Given the description of an element on the screen output the (x, y) to click on. 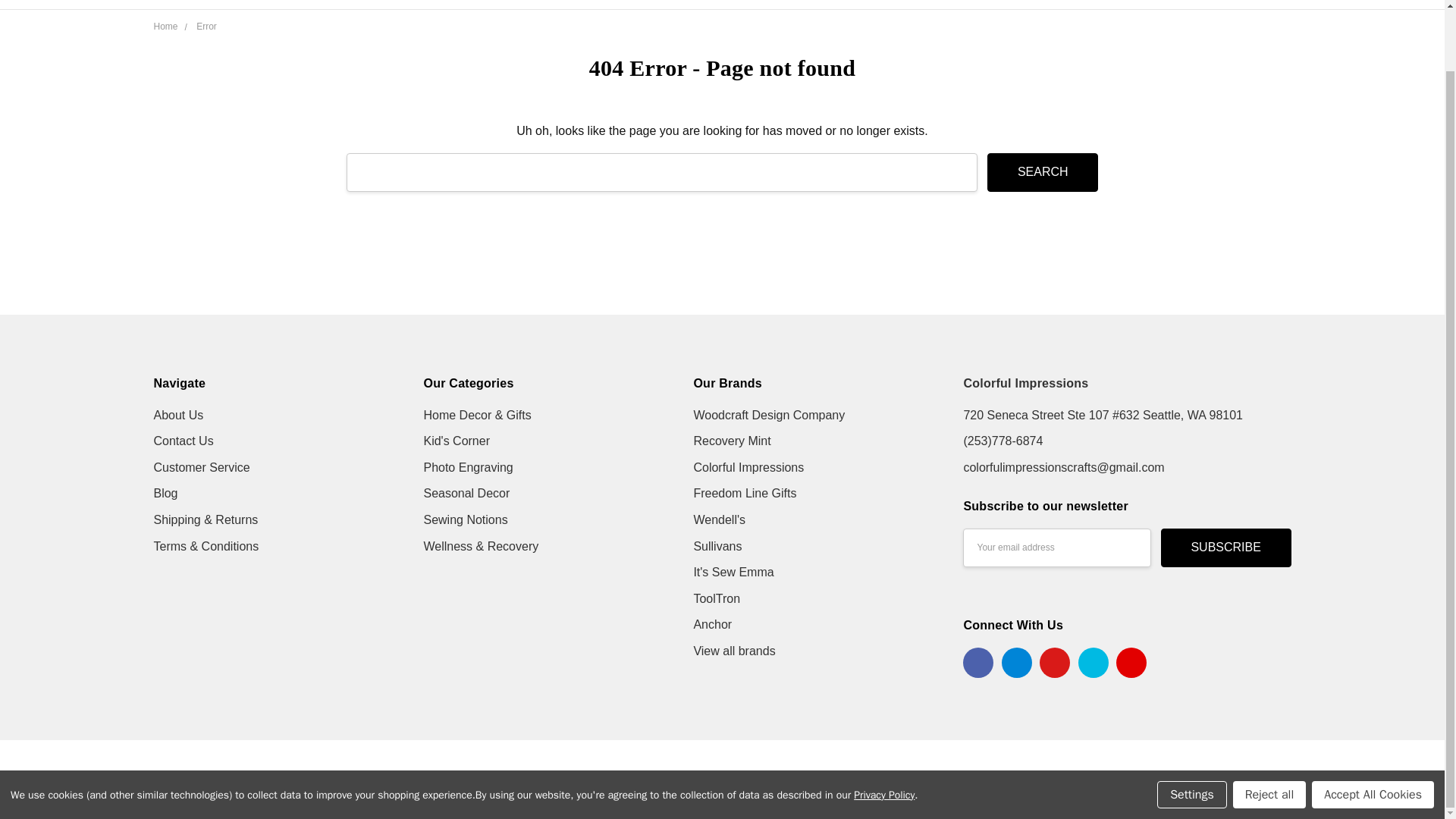
COLORFUL IMPRESSIONS (263, 22)
CUSTOMER SERVICE (520, 4)
Search (1042, 172)
ABOUT US (493, 4)
Show All (1082, 4)
HOME (481, 4)
KID'S CORNER (728, 4)
PHOTO ENGRAVING (854, 4)
Subscribe (1225, 547)
CONTACT US (499, 4)
SEASONAL DECOR (990, 4)
BLOG (481, 4)
